Given the description of an element on the screen output the (x, y) to click on. 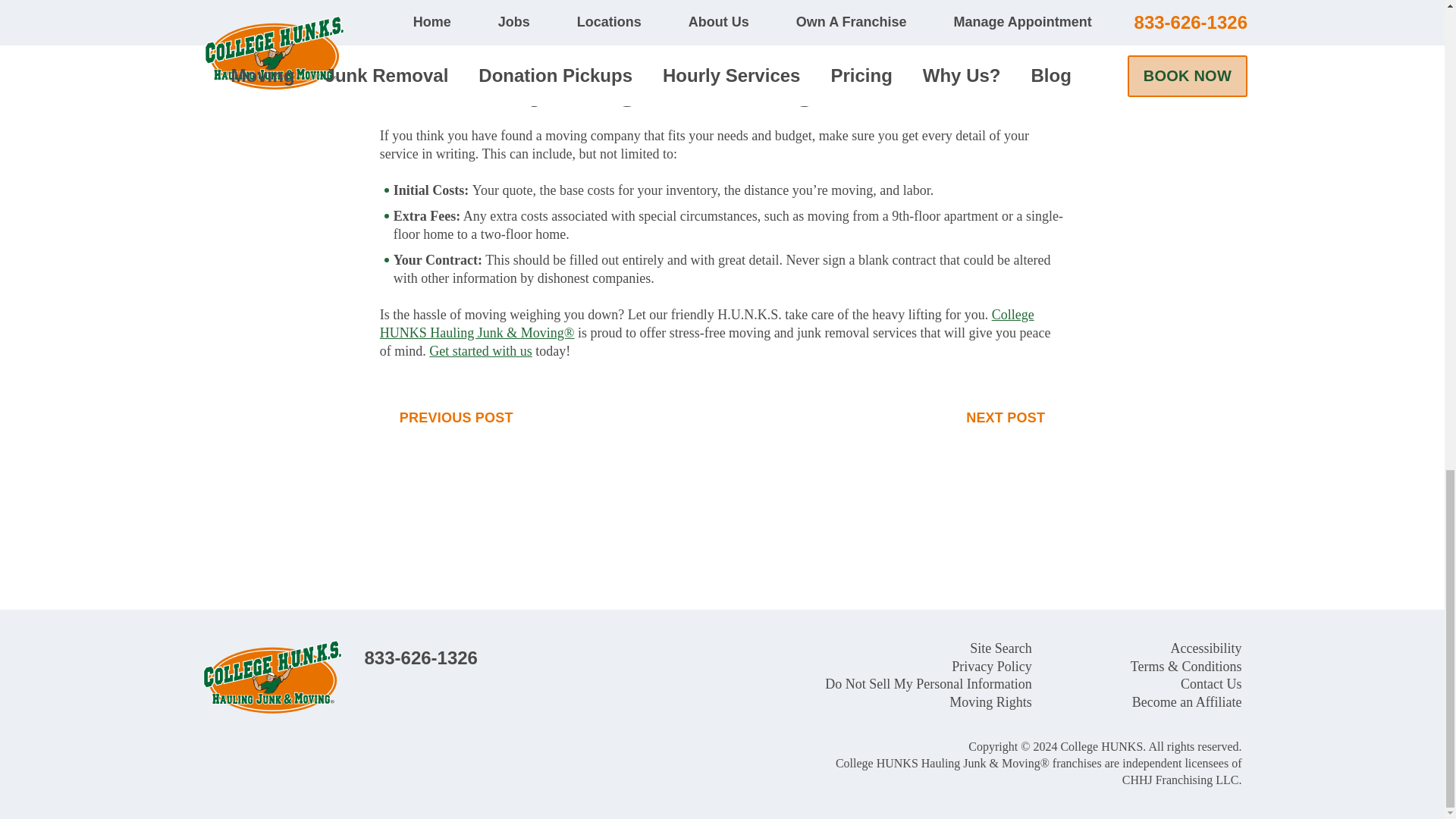
Book Now (420, 657)
